Given the description of an element on the screen output the (x, y) to click on. 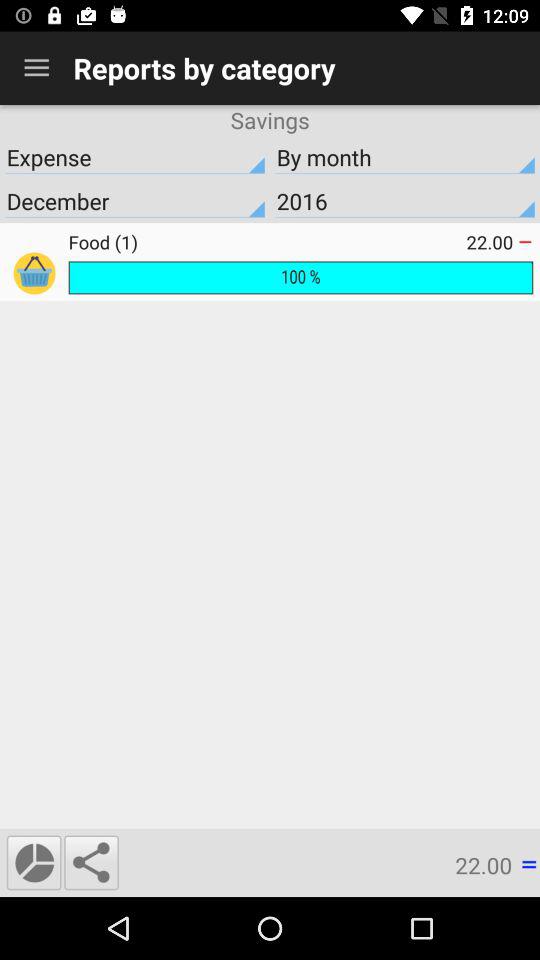
see pie chart (33, 862)
